Given the description of an element on the screen output the (x, y) to click on. 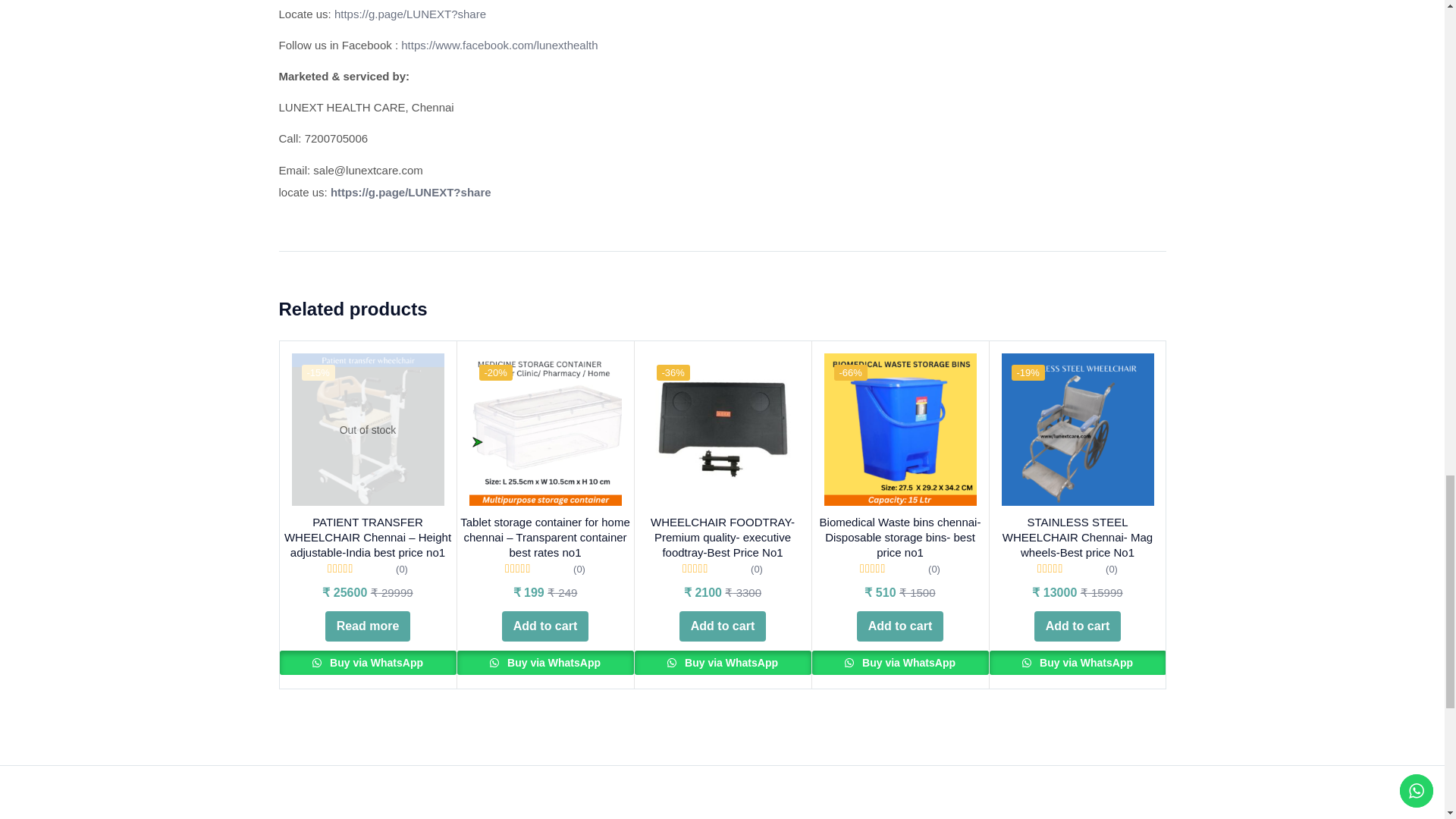
Add to cart (545, 626)
Read more (367, 626)
